Given the description of an element on the screen output the (x, y) to click on. 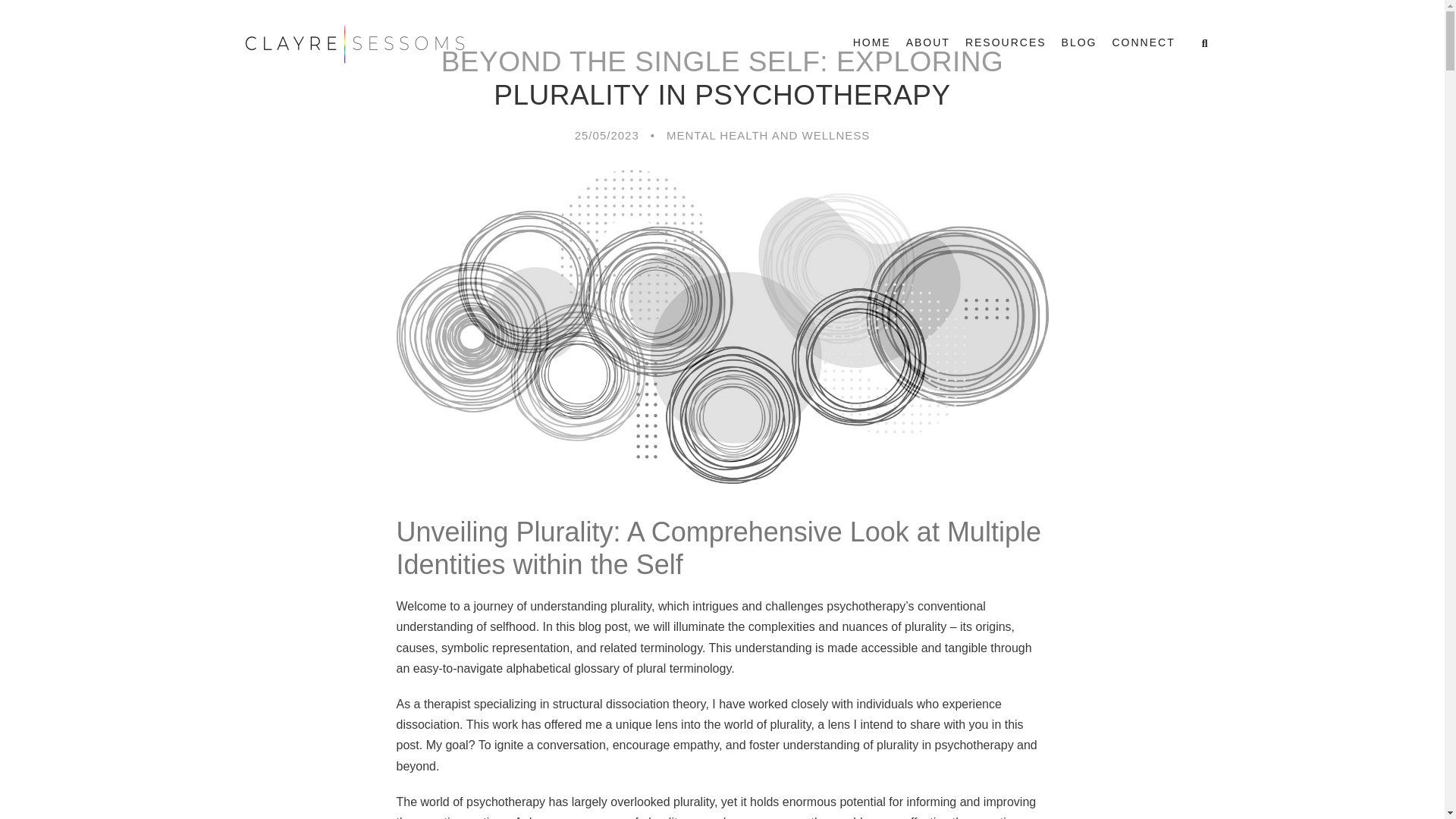
CONNECT (1143, 48)
Clayre Sessoms Logo (353, 43)
ABOUT (927, 48)
MENTAL HEALTH AND WELLNESS (767, 134)
RESOURCES (1005, 48)
BLOG (1079, 48)
HOME (872, 48)
